Given the description of an element on the screen output the (x, y) to click on. 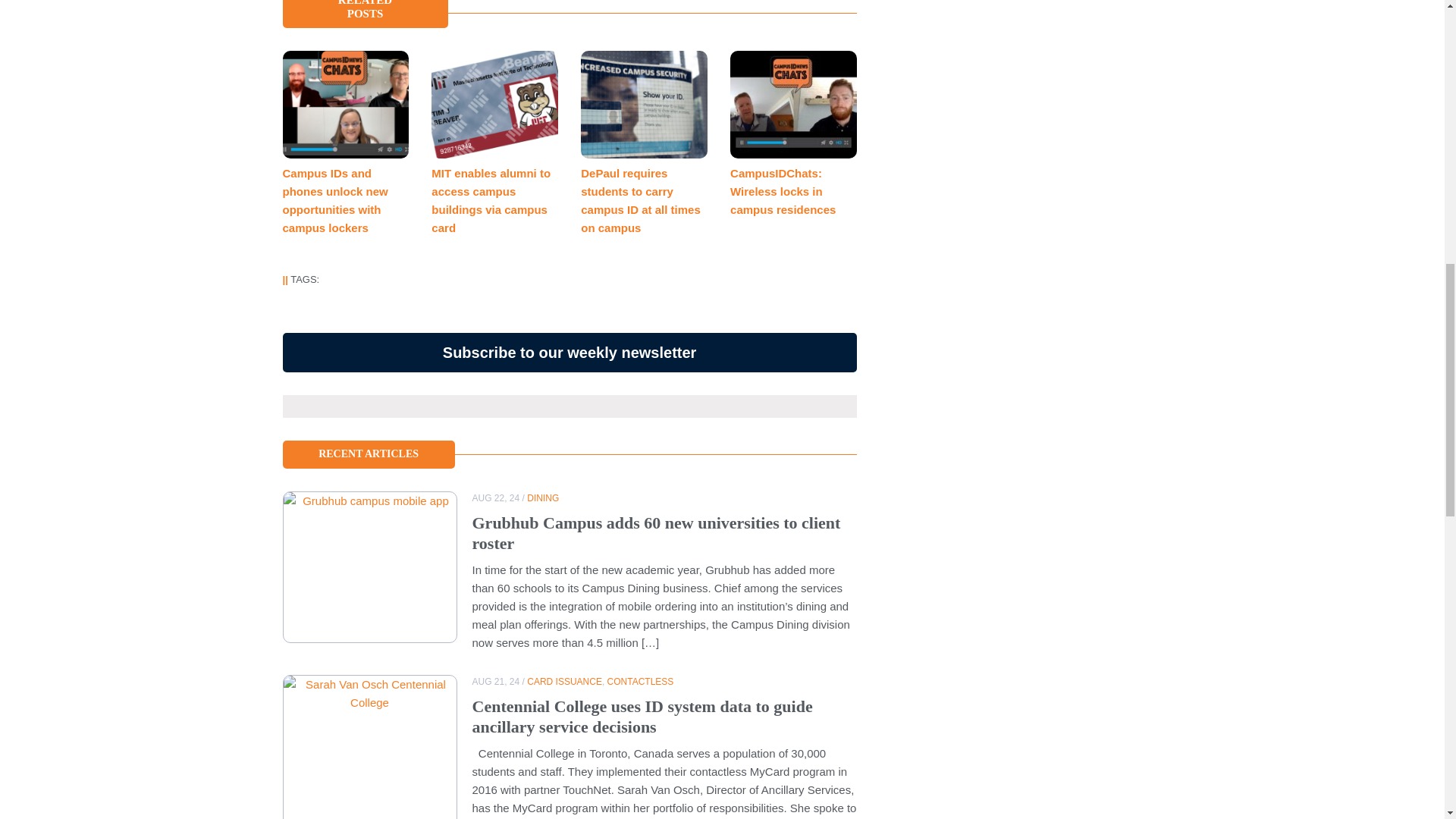
DINING (543, 498)
CampusIDChats: Wireless locks in campus residences (782, 191)
Grubhub Campus adds 60 new universities to client roster (655, 532)
CONTACTLESS (640, 681)
CARD ISSUANCE (564, 681)
